Given the description of an element on the screen output the (x, y) to click on. 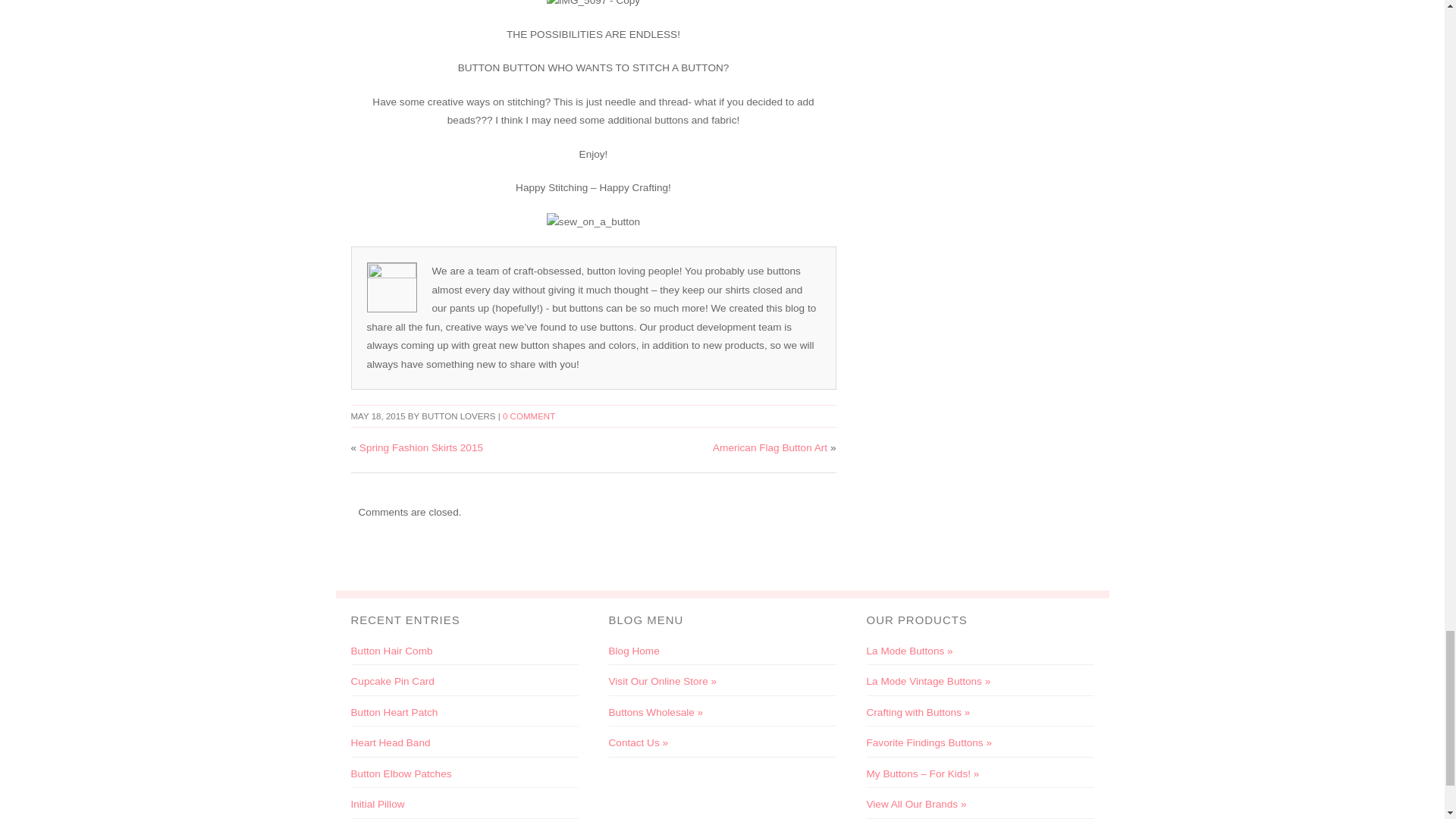
0 COMMENT (528, 415)
American Flag Button Art (770, 447)
Spring Fashion Skirts 2015 (421, 447)
